Given the description of an element on the screen output the (x, y) to click on. 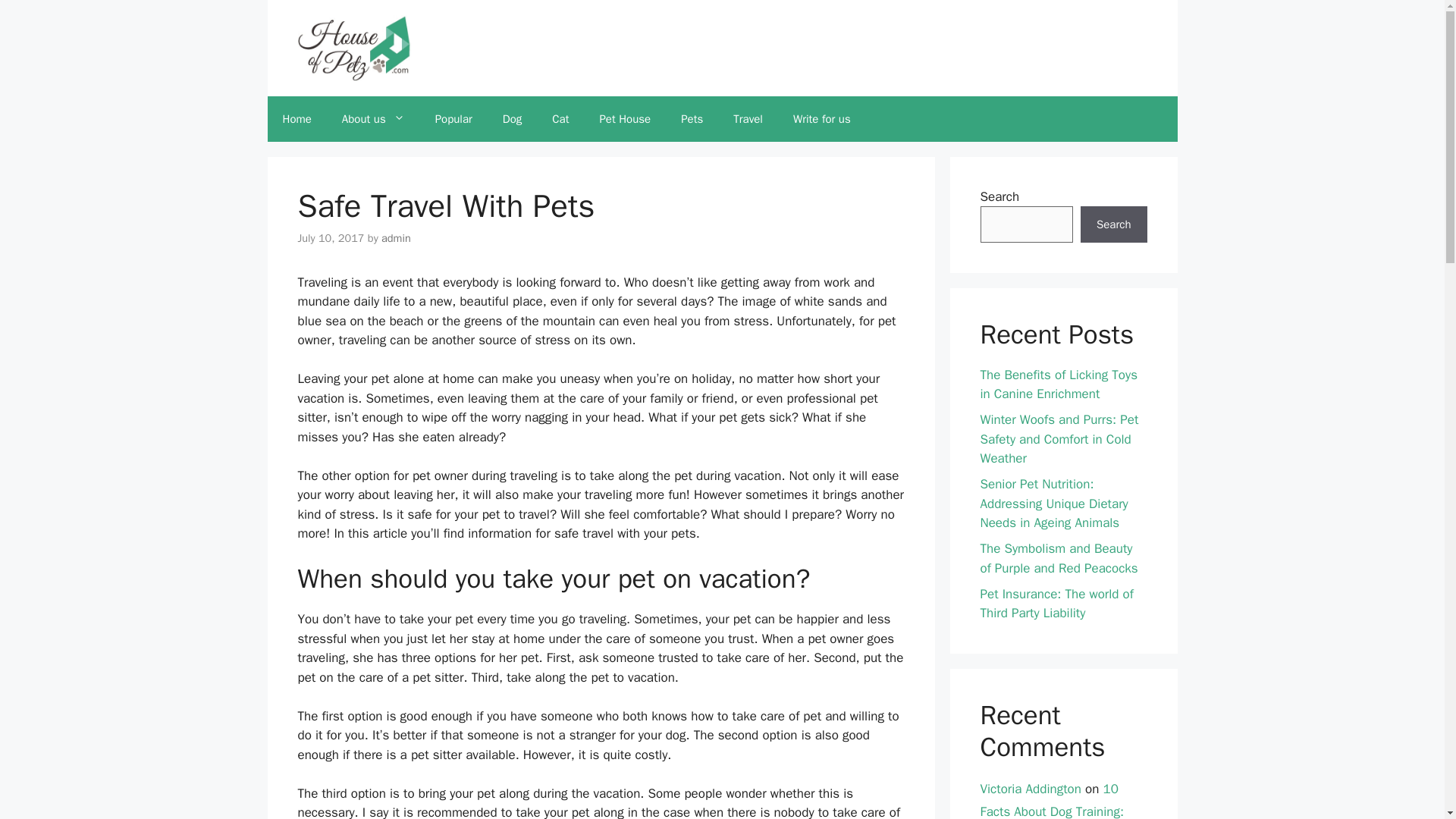
Victoria Addington (1029, 788)
Home (296, 118)
10 Facts About Dog Training: Everything You Need to Know (1061, 800)
Search (1113, 224)
The Symbolism and Beauty of Purple and Red Peacocks (1058, 558)
Travel (747, 118)
Pet Insurance: The world of Third Party Liability (1055, 603)
About us (373, 118)
